Given the description of an element on the screen output the (x, y) to click on. 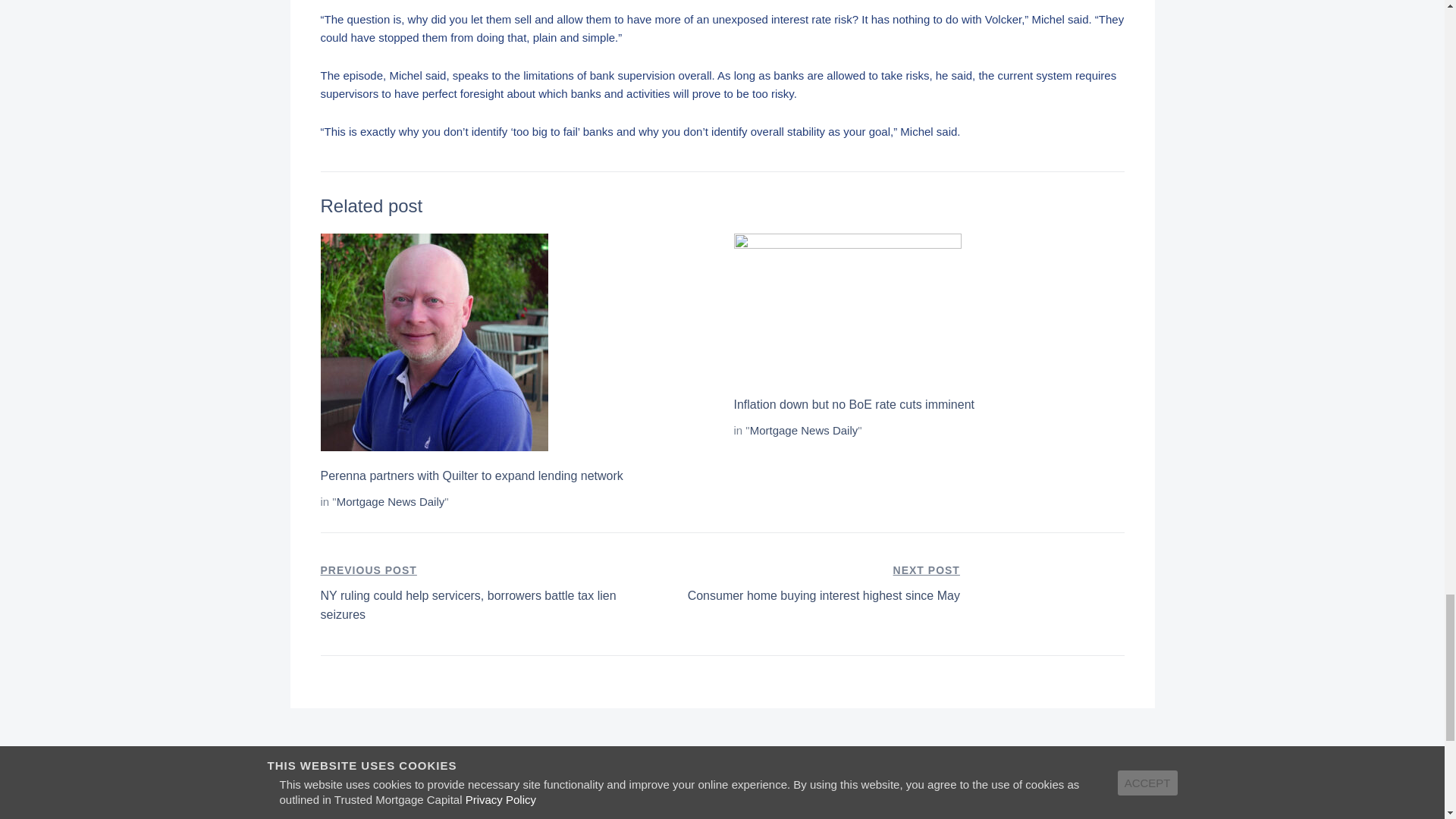
Perenna partners with Quilter to expand lending network (471, 475)
GO! (1120, 807)
Mortgage News Daily (390, 501)
Mortgage News Daily (804, 584)
Inflation down but no BoE rate cuts imminent (804, 430)
